Given the description of an element on the screen output the (x, y) to click on. 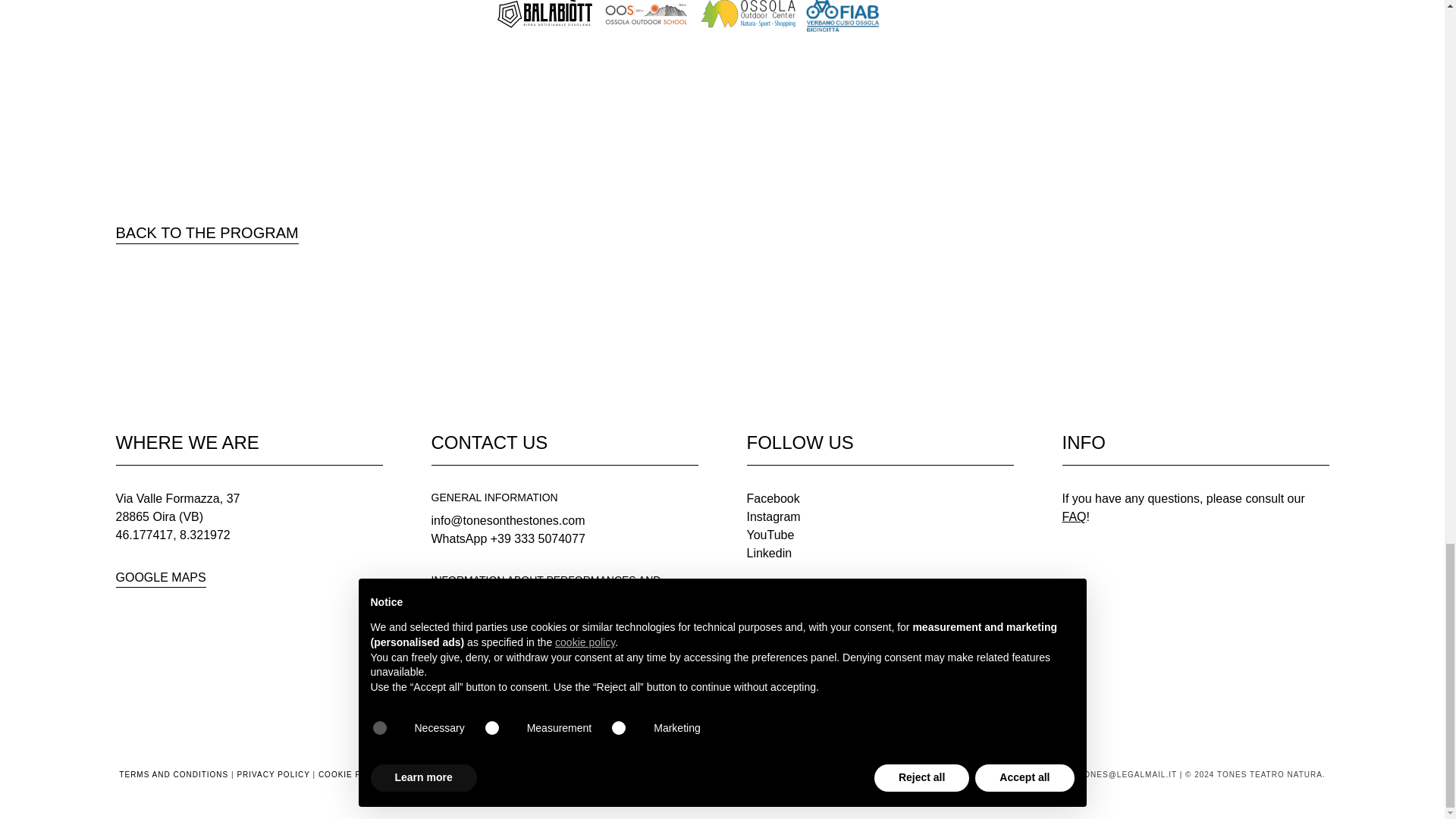
YouTube (769, 534)
COOKIE POLICY (352, 774)
GOOGLE MAPS (160, 578)
PRIVACY POLICY (271, 774)
46.177417, 8.321972 (172, 534)
Instagram (772, 516)
BACK TO THE PROGRAM (206, 232)
FAQ (1073, 516)
TERMS AND CONDITIONS (173, 774)
Linkedin (768, 553)
